Given the description of an element on the screen output the (x, y) to click on. 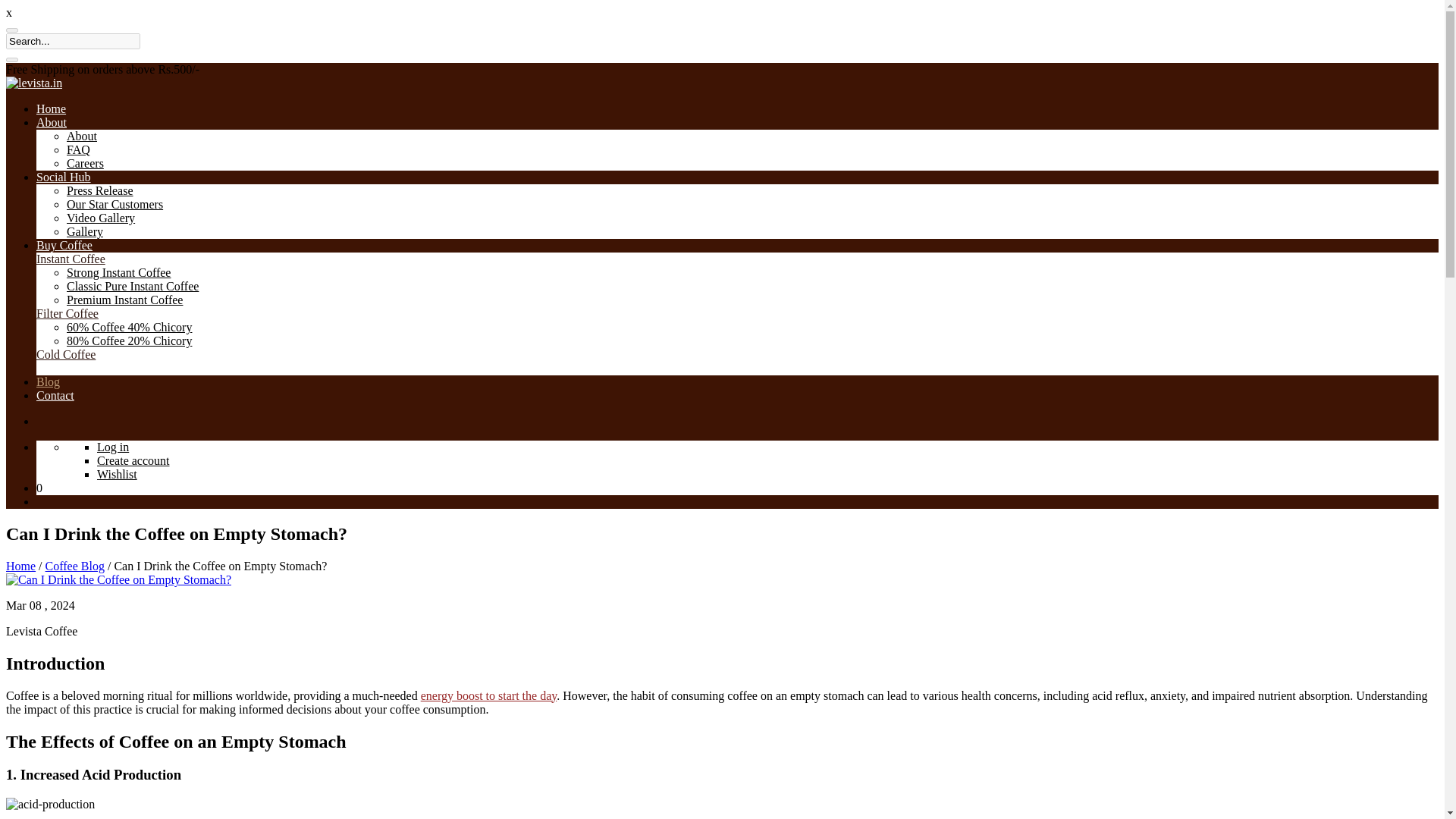
Wishlist (116, 473)
Video Gallery (100, 217)
Home (50, 108)
Premium Instant Coffee (124, 299)
About (81, 135)
Contact (55, 395)
Our Star Customers (114, 204)
Home (19, 565)
Press Release (99, 190)
About (51, 122)
